Given the description of an element on the screen output the (x, y) to click on. 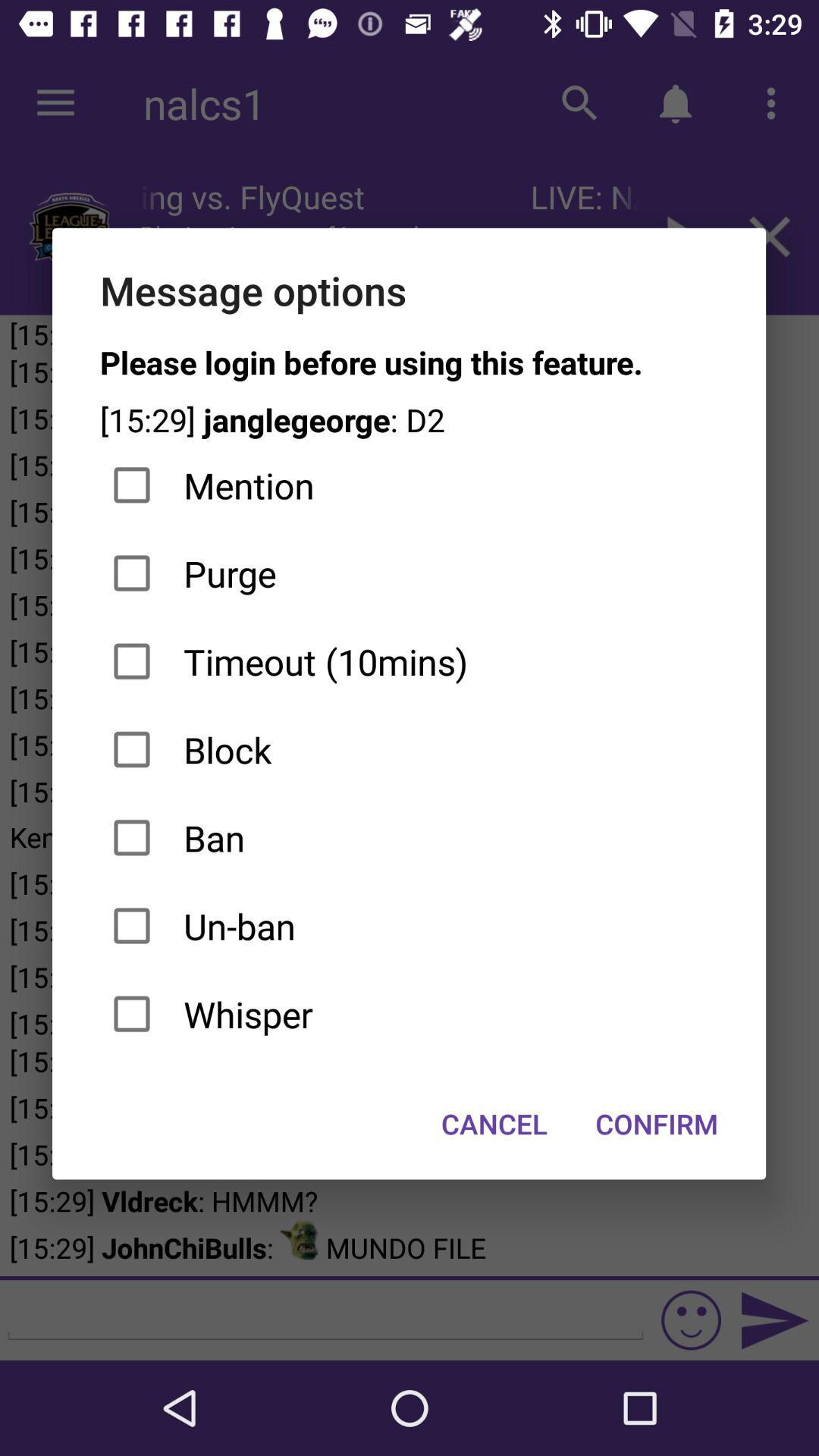
open the checkbox above timeout (10mins) icon (409, 573)
